Given the description of an element on the screen output the (x, y) to click on. 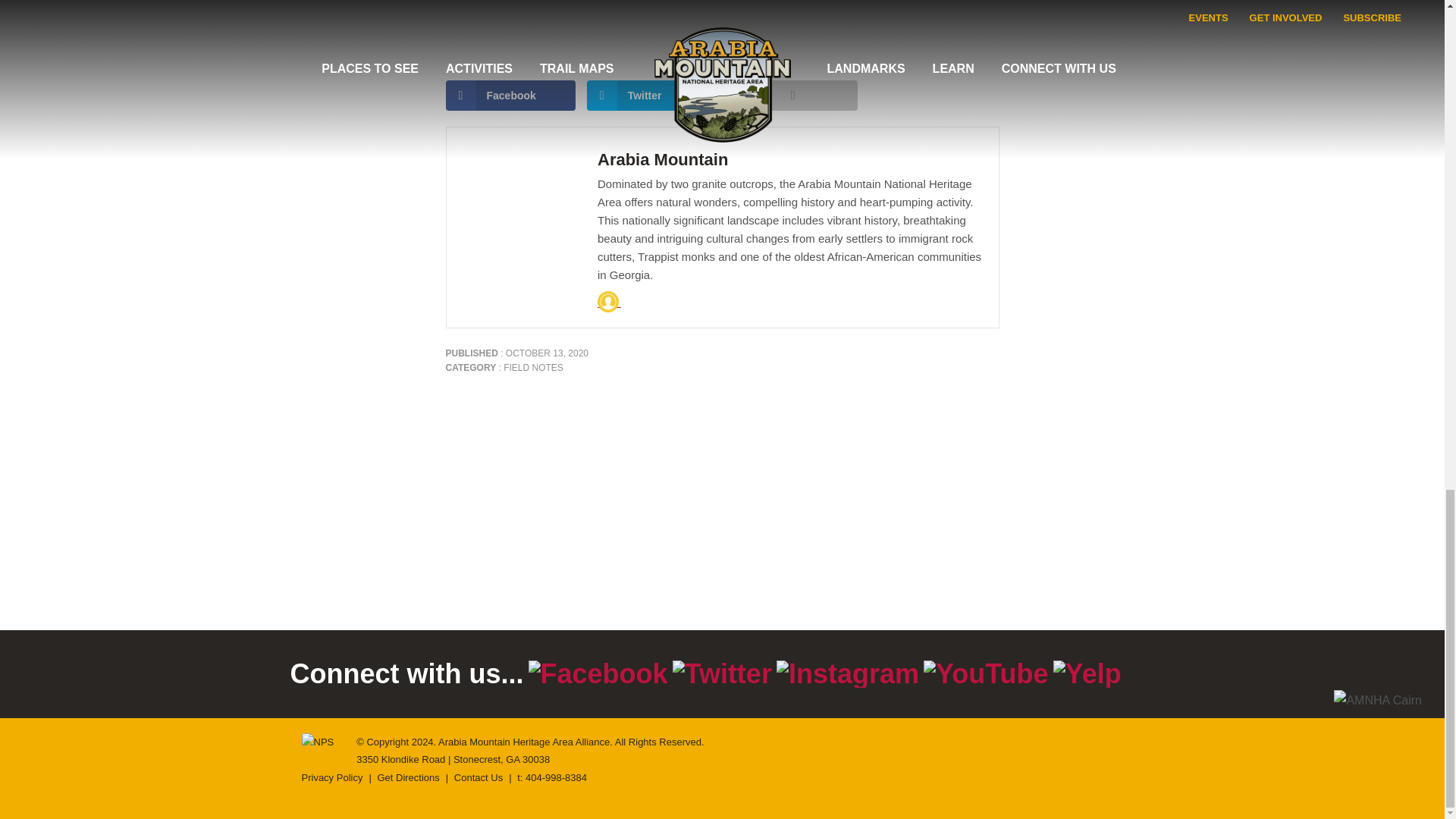
NPS (317, 741)
